Given the description of an element on the screen output the (x, y) to click on. 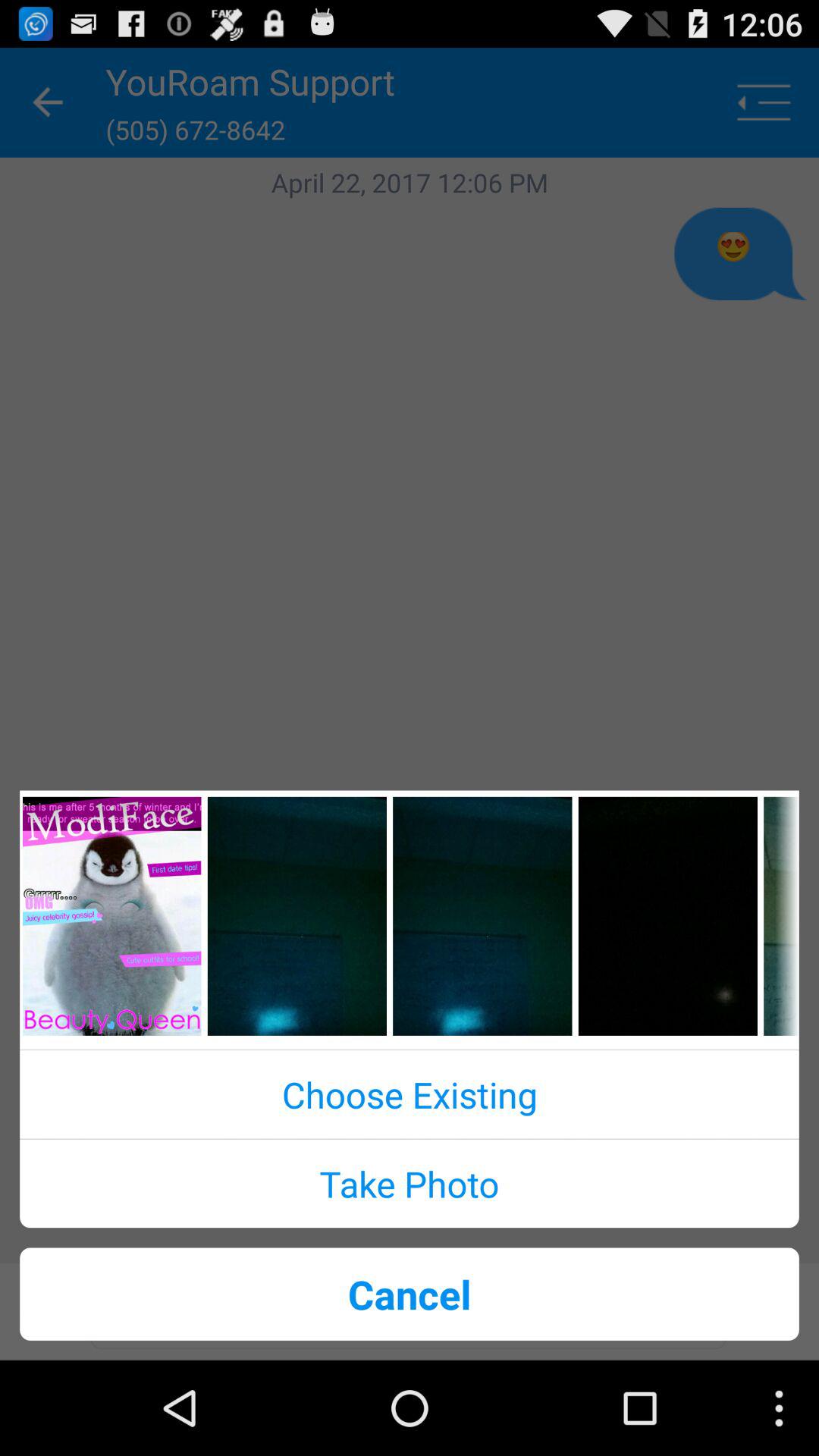
select background (296, 915)
